Given the description of an element on the screen output the (x, y) to click on. 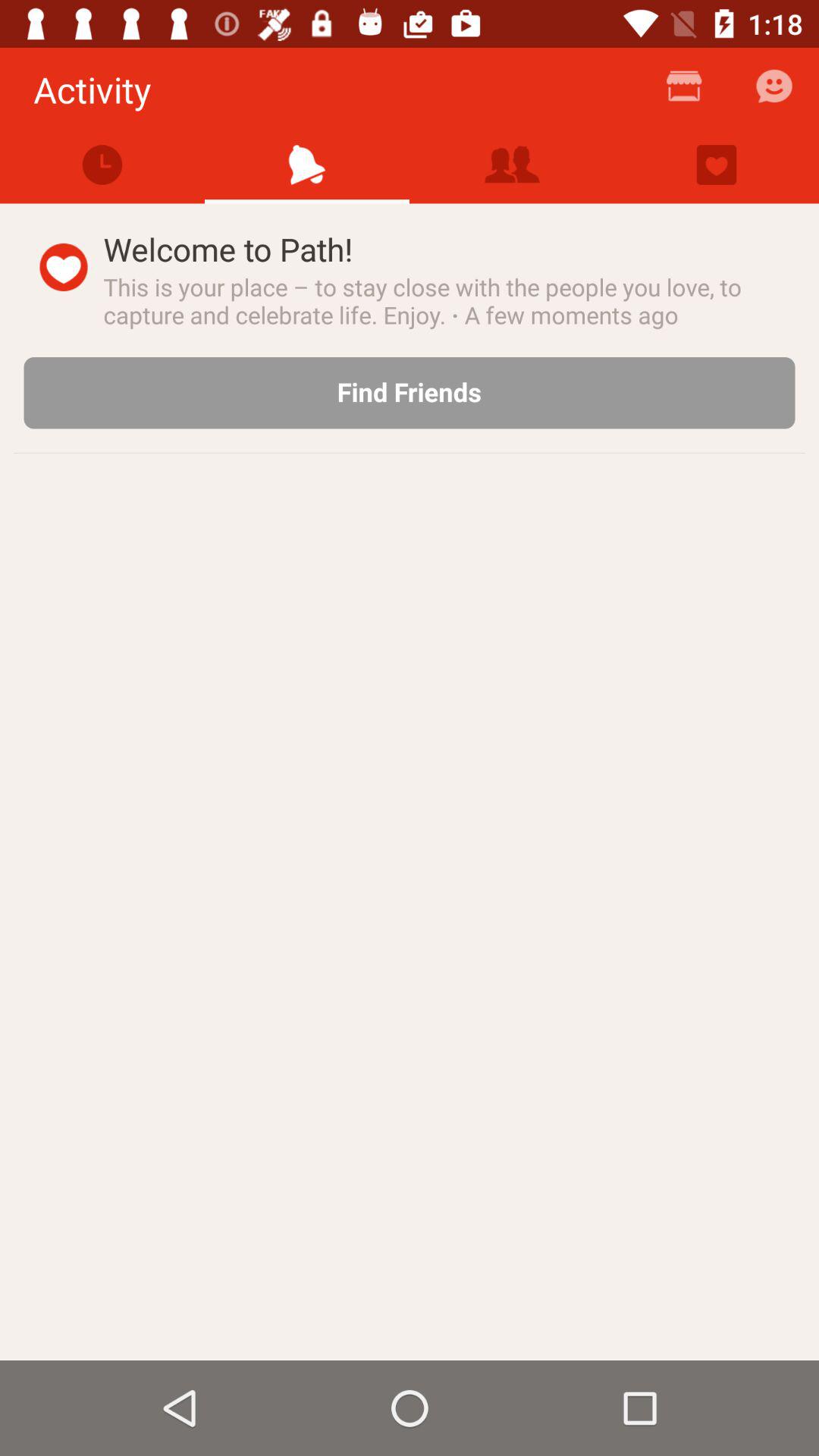
click the item below the this is your app (409, 392)
